Given the description of an element on the screen output the (x, y) to click on. 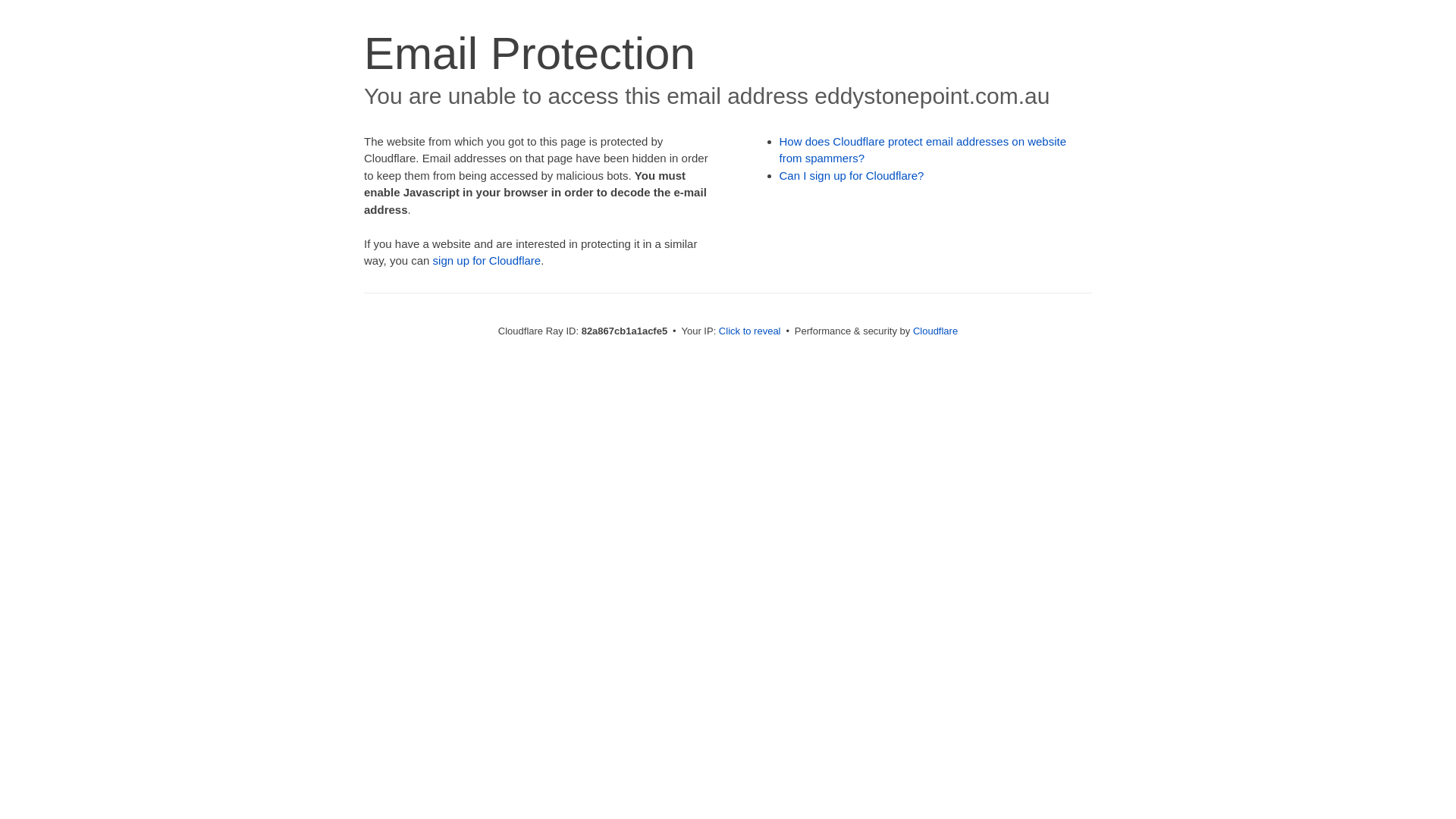
sign up for Cloudflare Element type: text (487, 260)
Can I sign up for Cloudflare? Element type: text (851, 175)
Click to reveal Element type: text (749, 330)
Cloudflare Element type: text (935, 330)
